Given the description of an element on the screen output the (x, y) to click on. 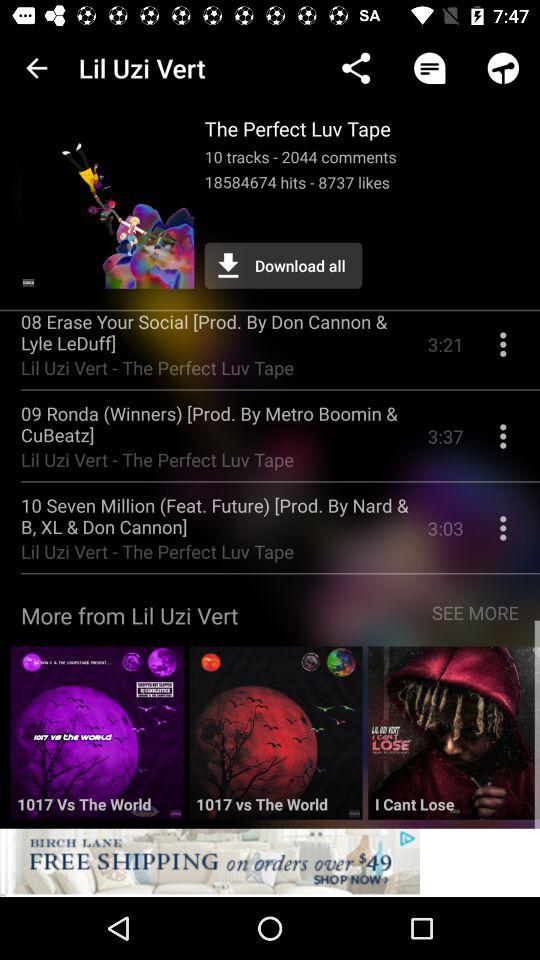
open 1017 vs the world (275, 740)
